Given the description of an element on the screen output the (x, y) to click on. 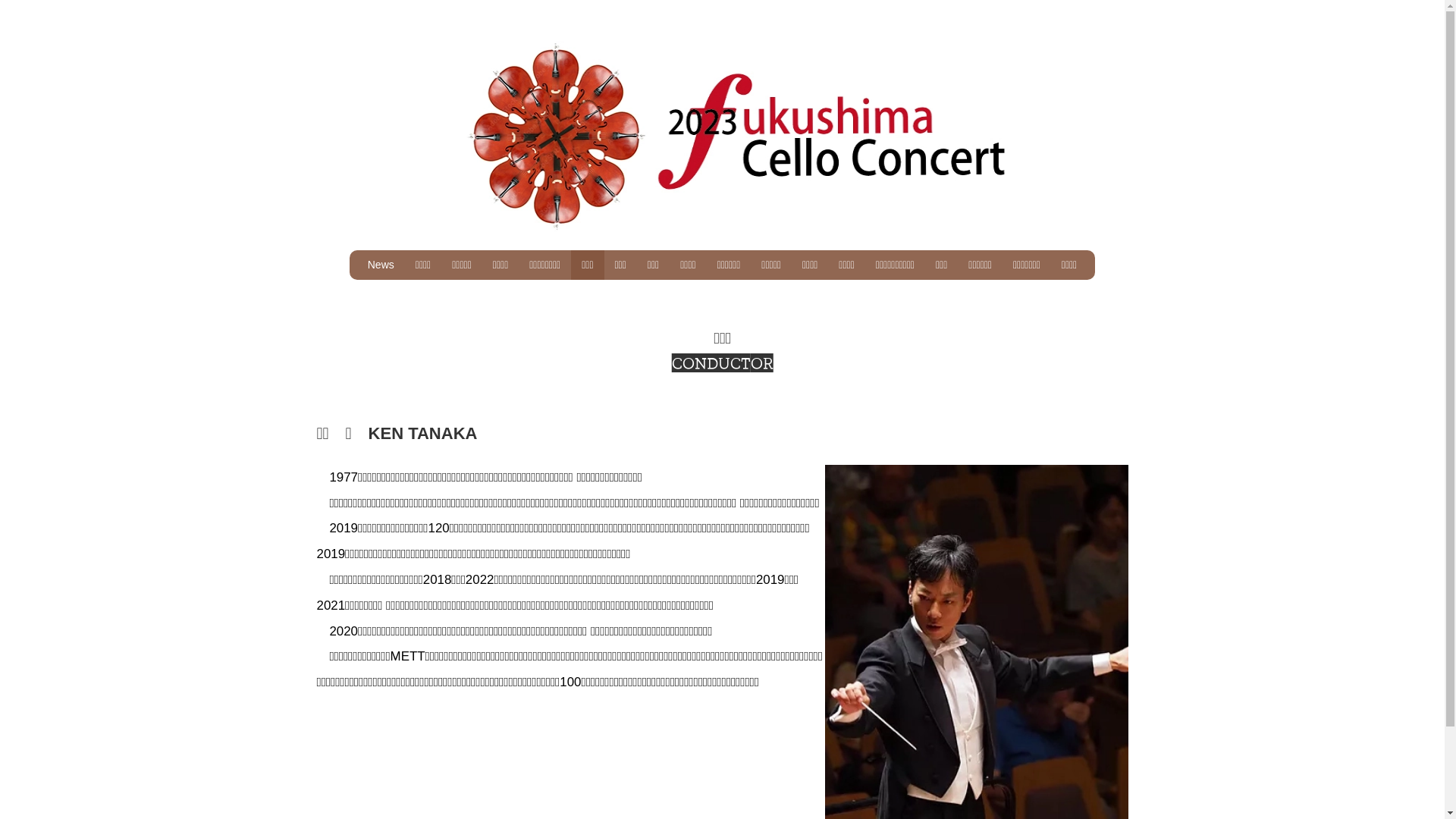
News Element type: text (380, 264)
